Given the description of an element on the screen output the (x, y) to click on. 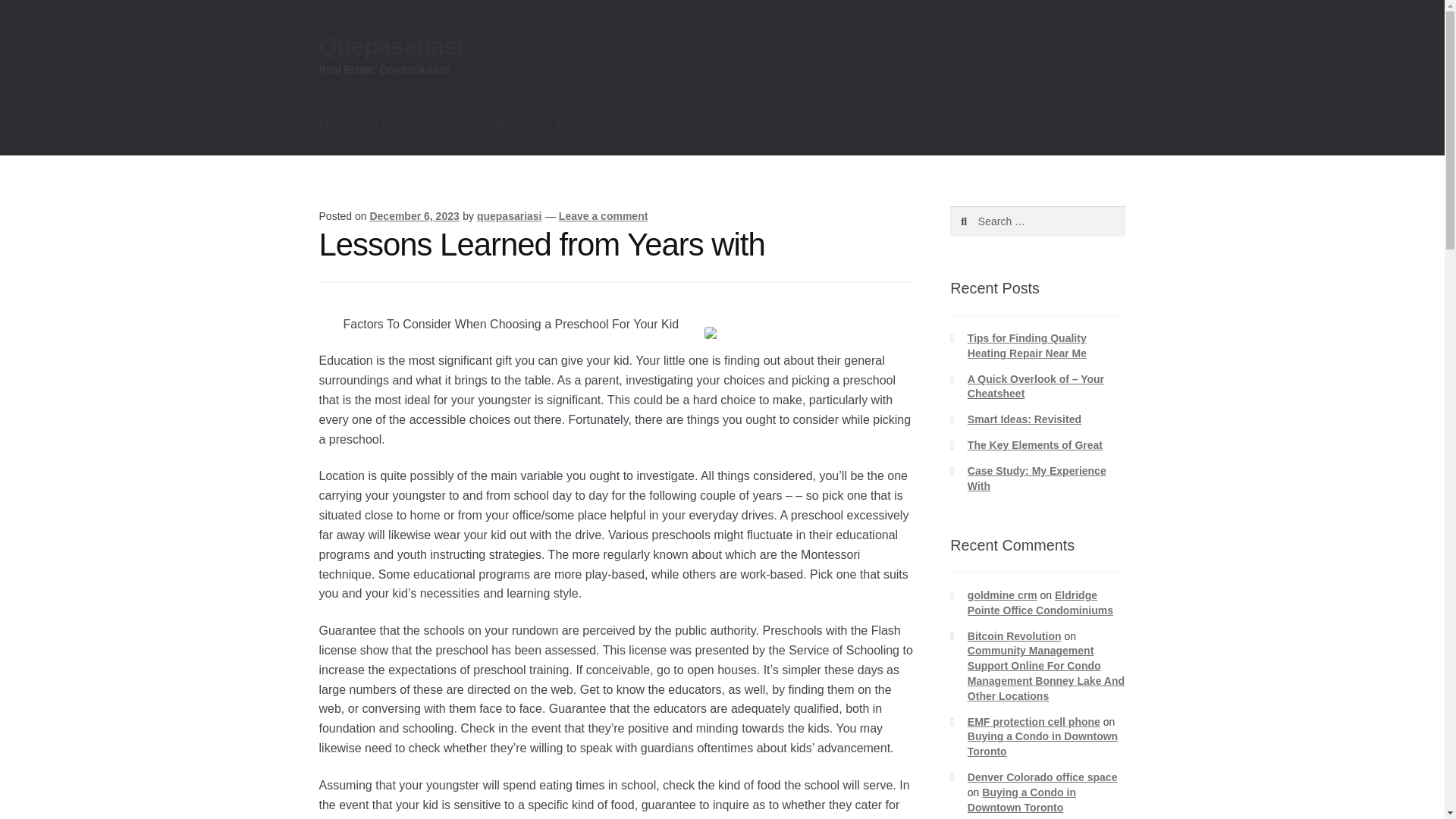
Privacy Policy (594, 124)
Terms Of Use (696, 124)
quepasariasi (509, 215)
Case Study: My Experience With (1037, 478)
Smart Ideas: Revisited (1024, 419)
Bitcoin Revolution (1014, 635)
Leave a comment (603, 215)
Quepasariasi (390, 45)
Eldridge Pointe Office Condominiums (1040, 602)
